Given the description of an element on the screen output the (x, y) to click on. 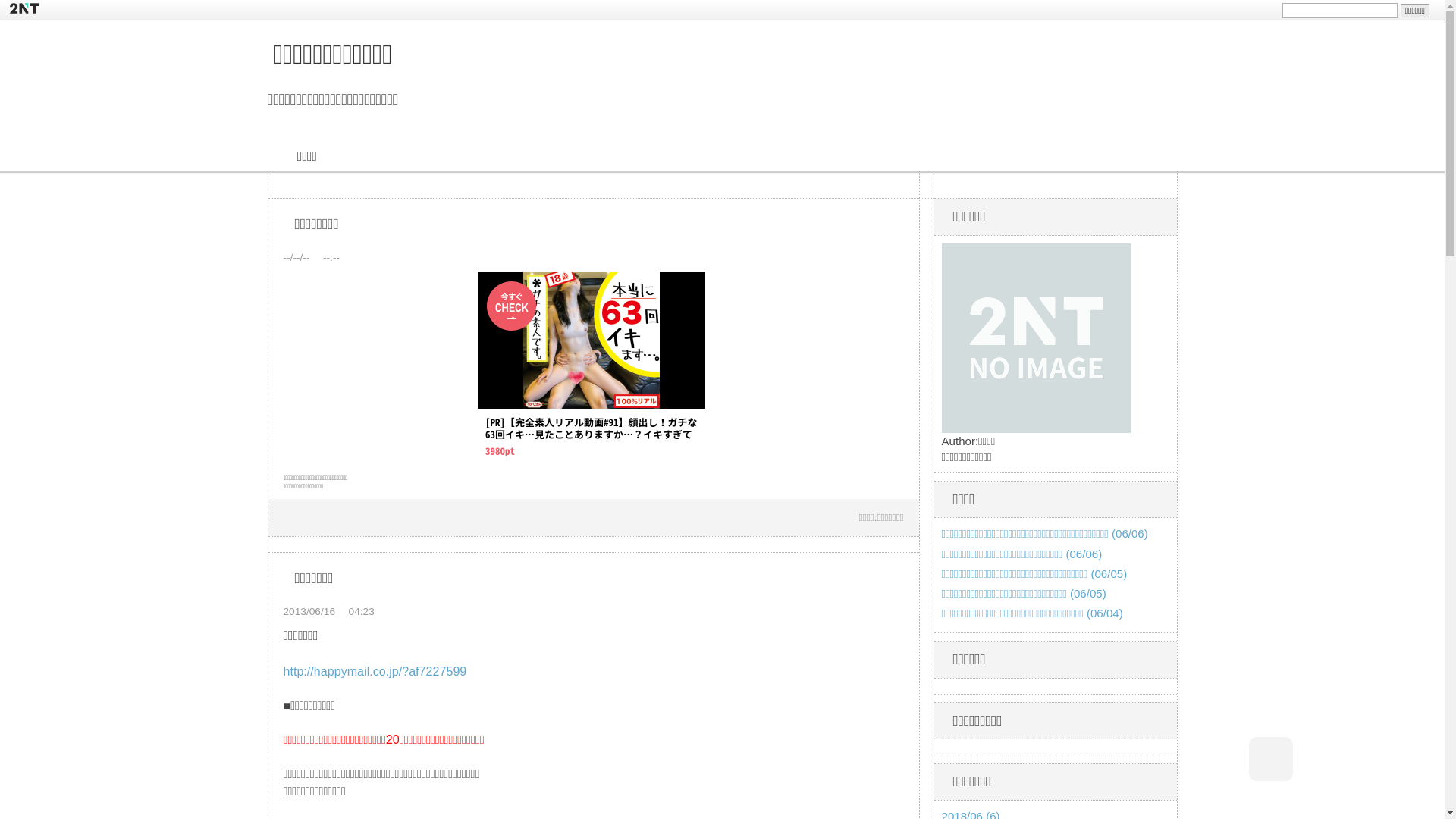
http://happymail.co.jp/?af7227599 Element type: text (375, 670)
